Given the description of an element on the screen output the (x, y) to click on. 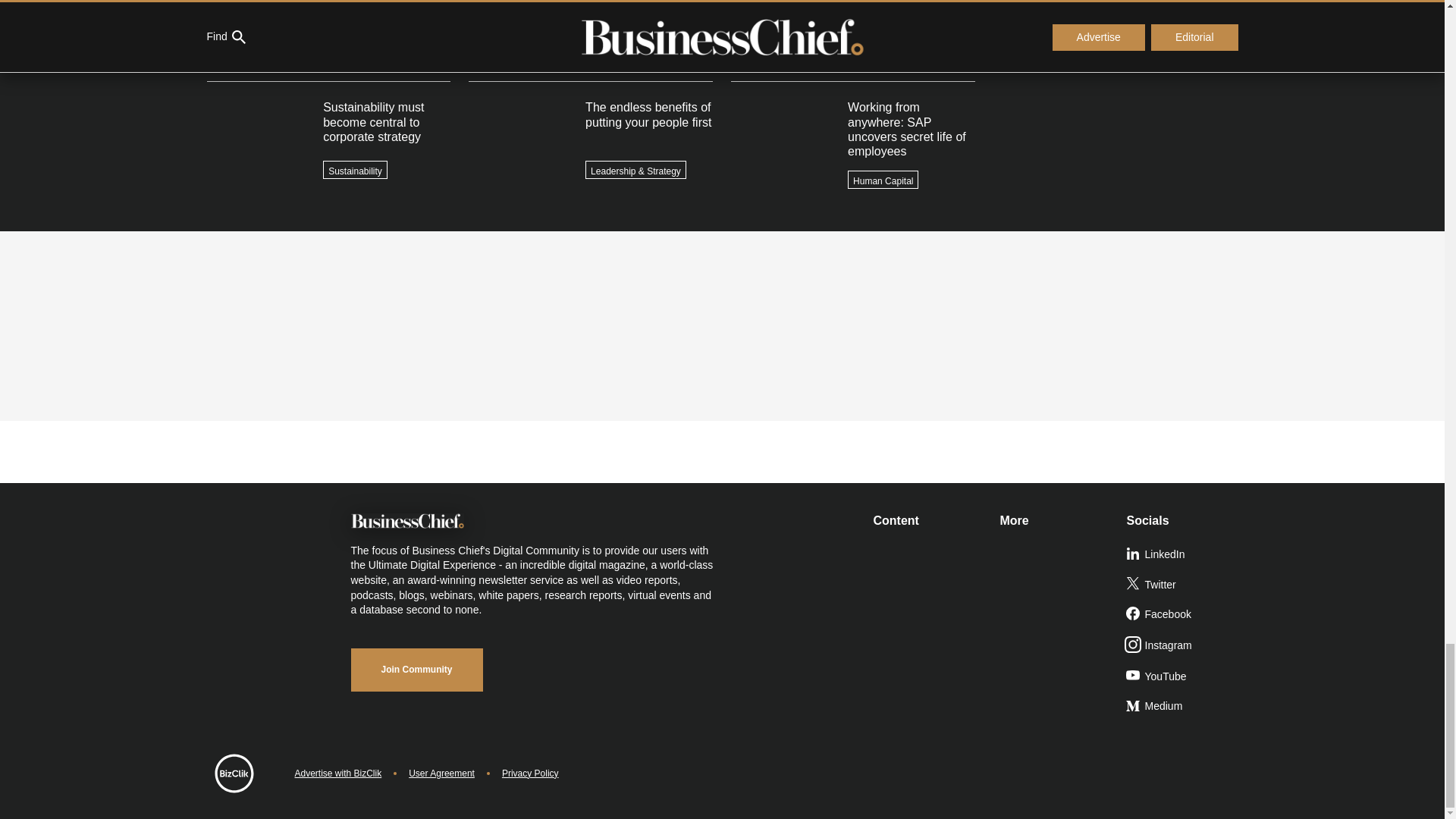
Join Community (415, 669)
Perkbox CEO: How to support employees through tough times (1114, 15)
